Given the description of an element on the screen output the (x, y) to click on. 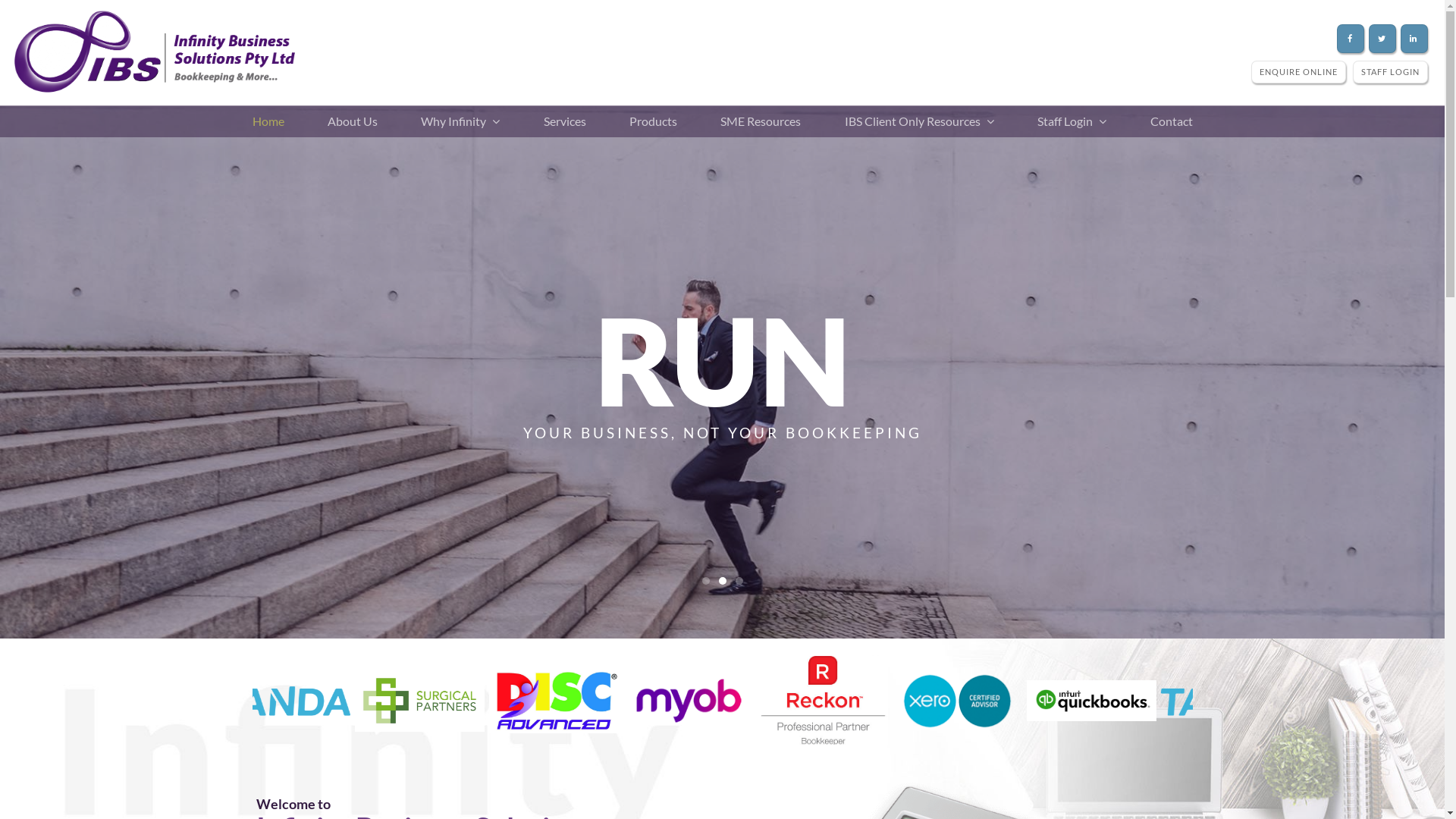
ENQUIRE ONLINE Element type: text (1298, 71)
SME Resources Element type: text (760, 121)
About Us Element type: text (352, 121)
Staff Login Element type: text (1071, 121)
Why Infinity Element type: text (460, 121)
Services Element type: text (564, 121)
Home Element type: text (267, 121)
Products Element type: text (652, 121)
IBS Client Only Resources Element type: text (919, 121)
Contact Element type: text (1170, 121)
STAFF LOGIN Element type: text (1389, 71)
